Given the description of an element on the screen output the (x, y) to click on. 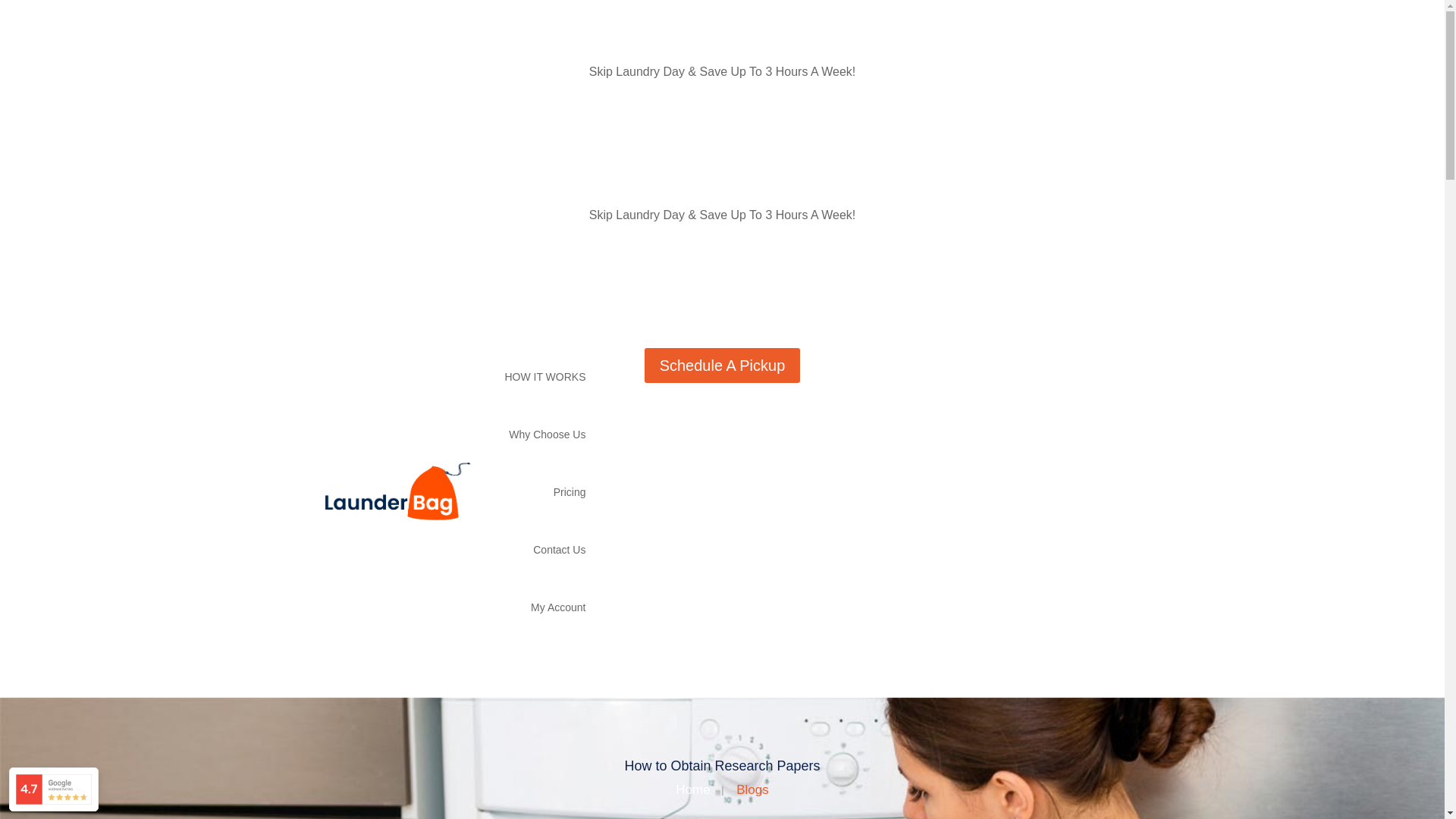
Schedule A Pickup (722, 365)
Contact Us (558, 549)
Home (691, 789)
Why Choose Us (546, 434)
Blogs (752, 789)
HOW IT WORKS (544, 376)
My Account (558, 607)
